Given the description of an element on the screen output the (x, y) to click on. 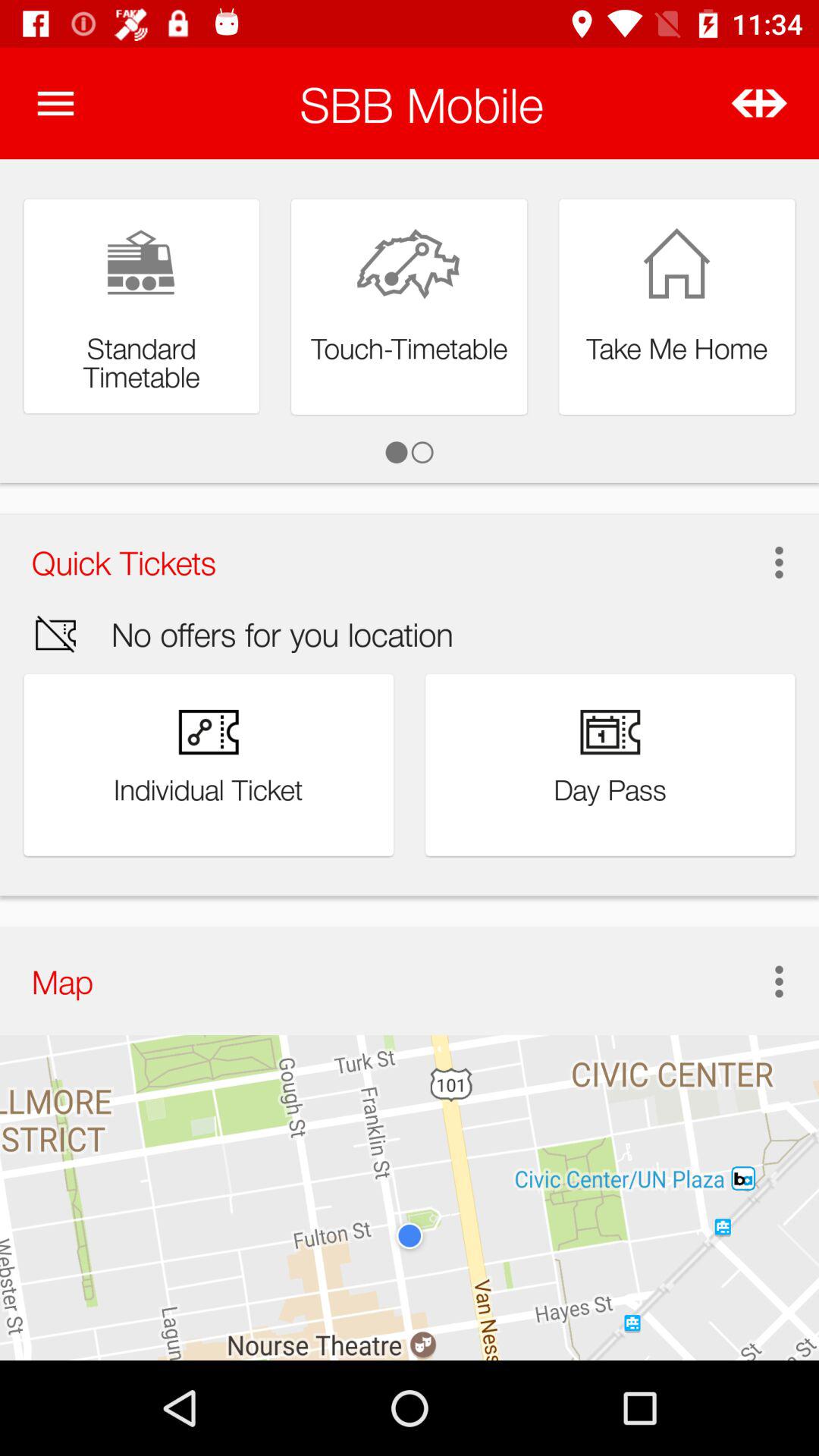
choose the icon next to the quick tickets (773, 562)
